Given the description of an element on the screen output the (x, y) to click on. 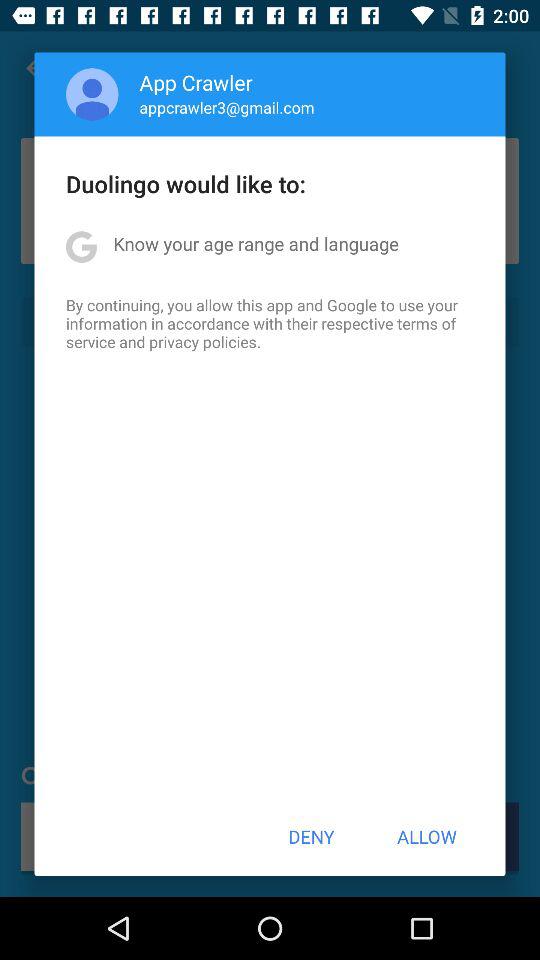
choose app crawler item (195, 82)
